Given the description of an element on the screen output the (x, y) to click on. 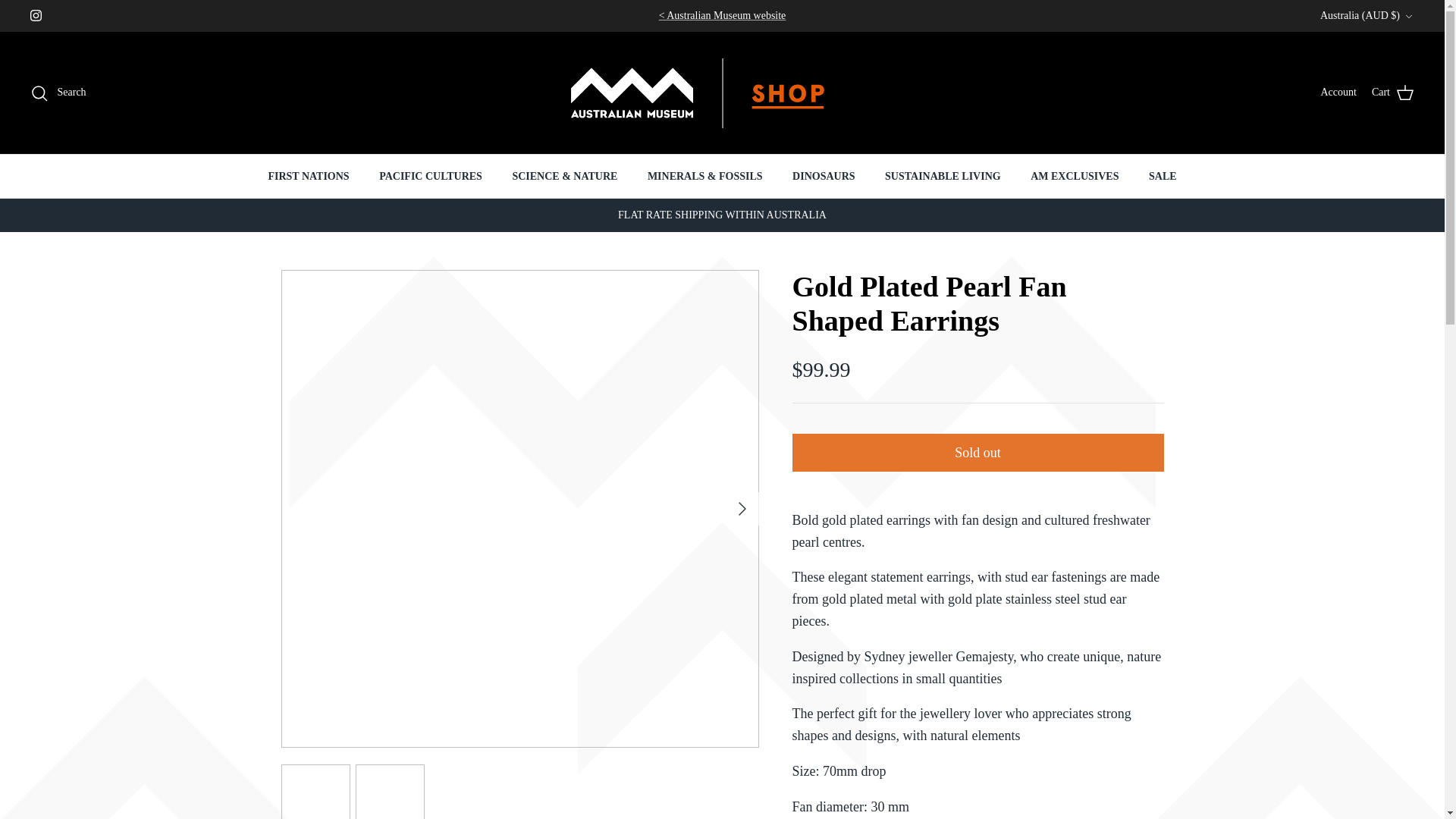
Down (1408, 16)
Australian Museum (722, 15)
Instagram (36, 15)
Right (741, 508)
Instagram (36, 15)
Australian Museum Shop (721, 92)
